Given the description of an element on the screen output the (x, y) to click on. 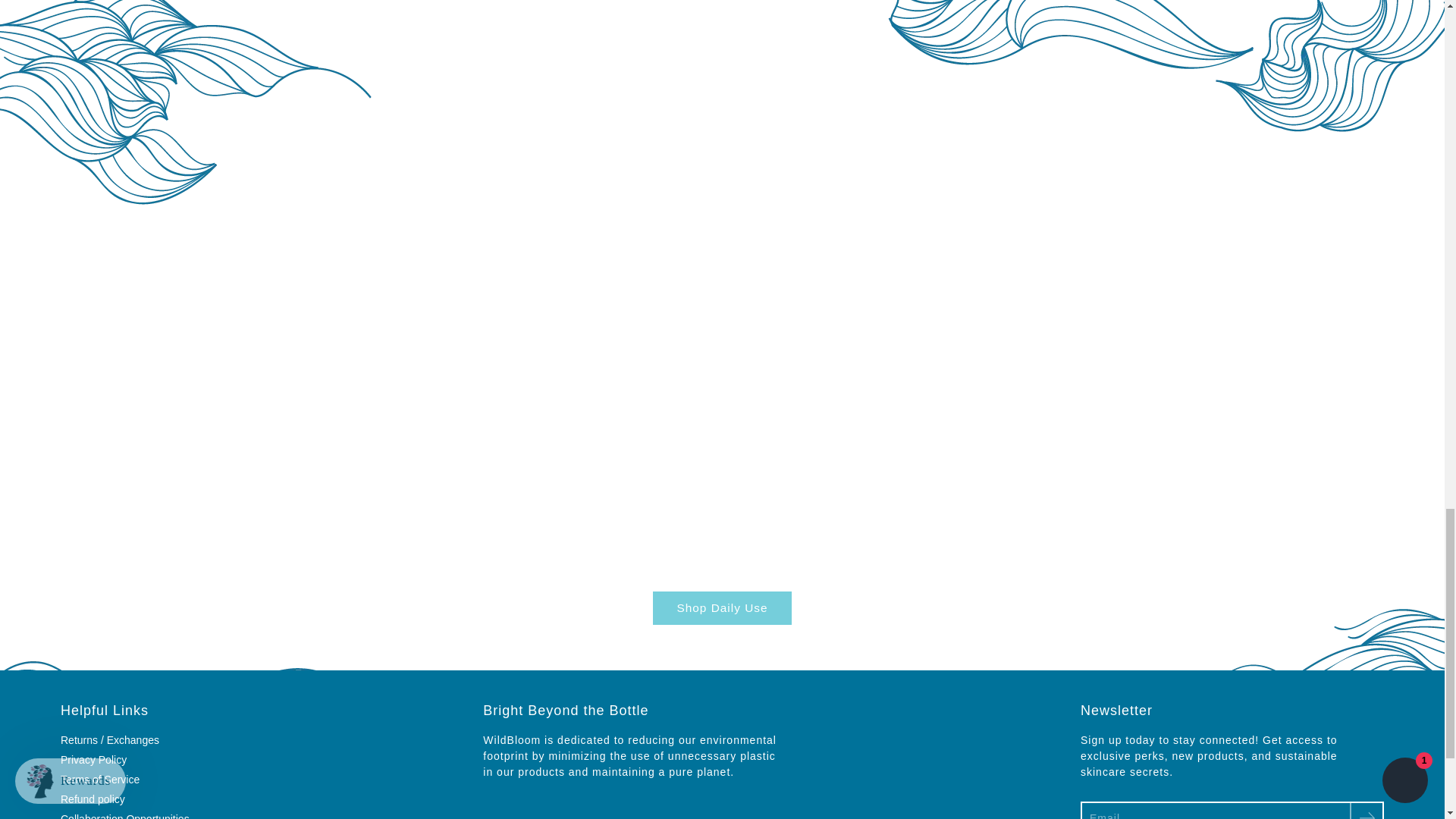
Daily Use (721, 607)
